Given the description of an element on the screen output the (x, y) to click on. 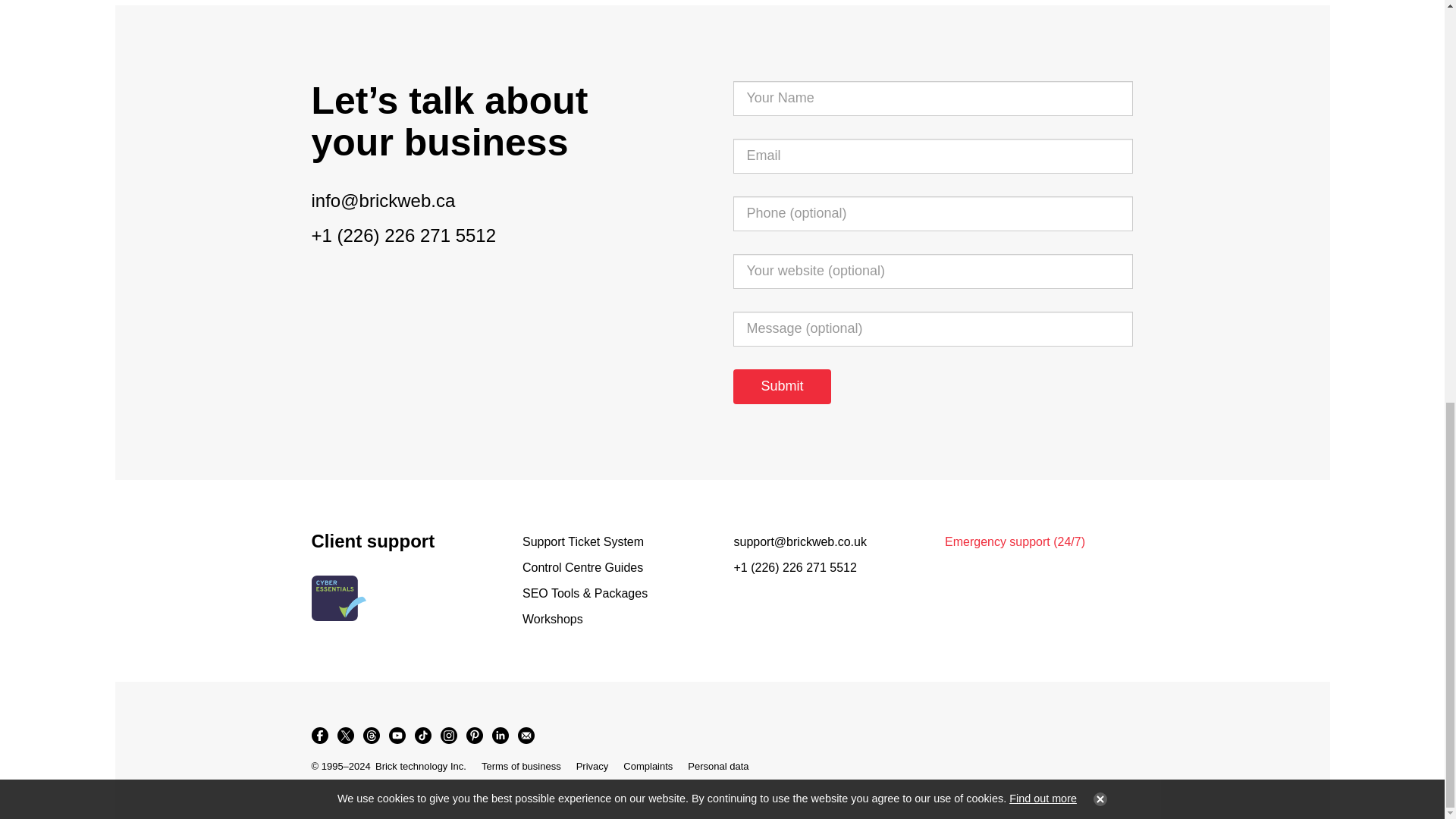
Get a copy of your personal data or Erase my personal data (717, 766)
Facebook (318, 735)
LinkedIn (499, 735)
YouTube (396, 735)
Newsletter (525, 735)
Pinterest (473, 735)
X (344, 735)
Threads (371, 735)
Submit (781, 386)
Instagram (448, 735)
TikTok (422, 735)
